Given the description of an element on the screen output the (x, y) to click on. 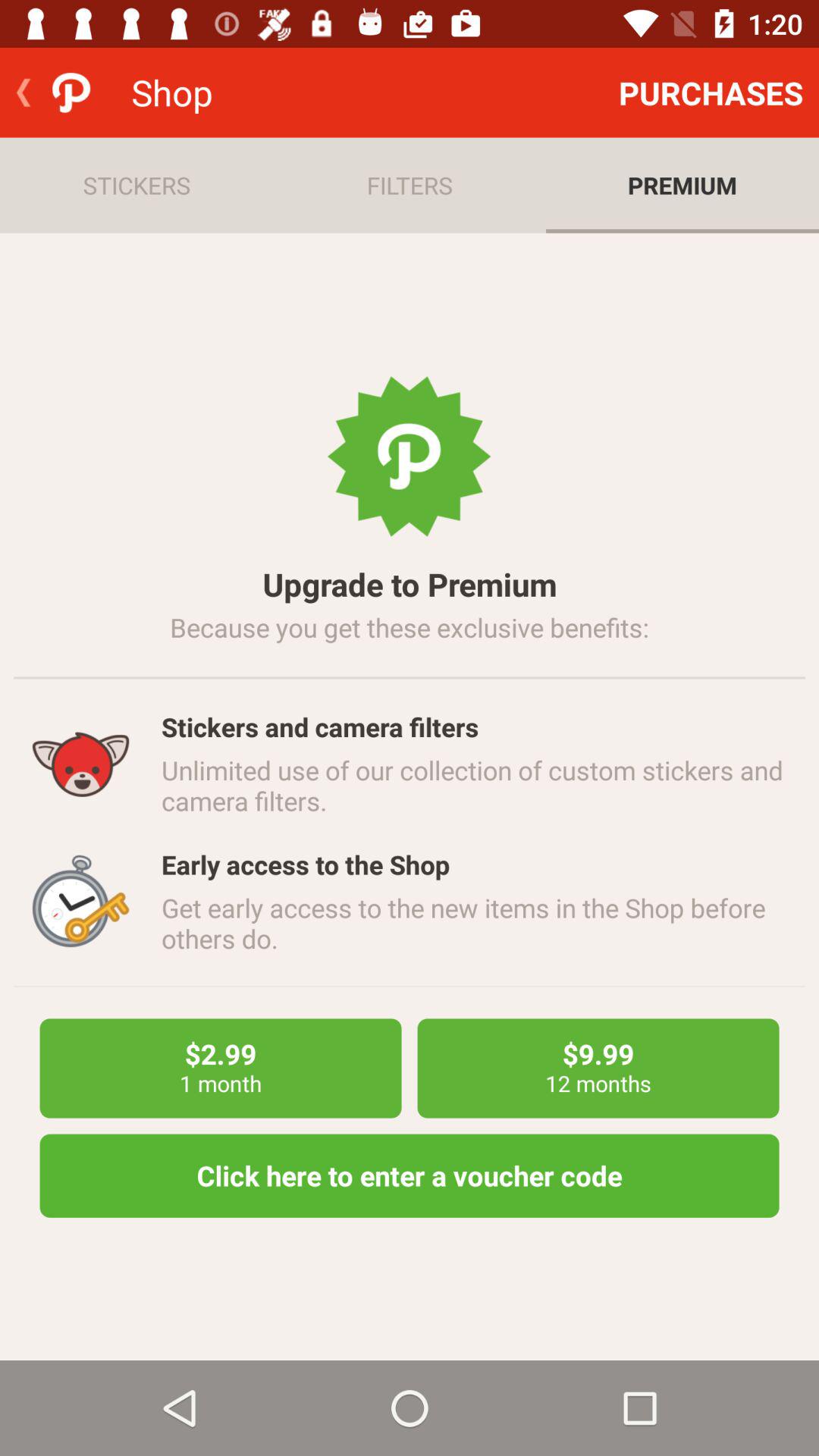
turn off item next to shop item (710, 92)
